Given the description of an element on the screen output the (x, y) to click on. 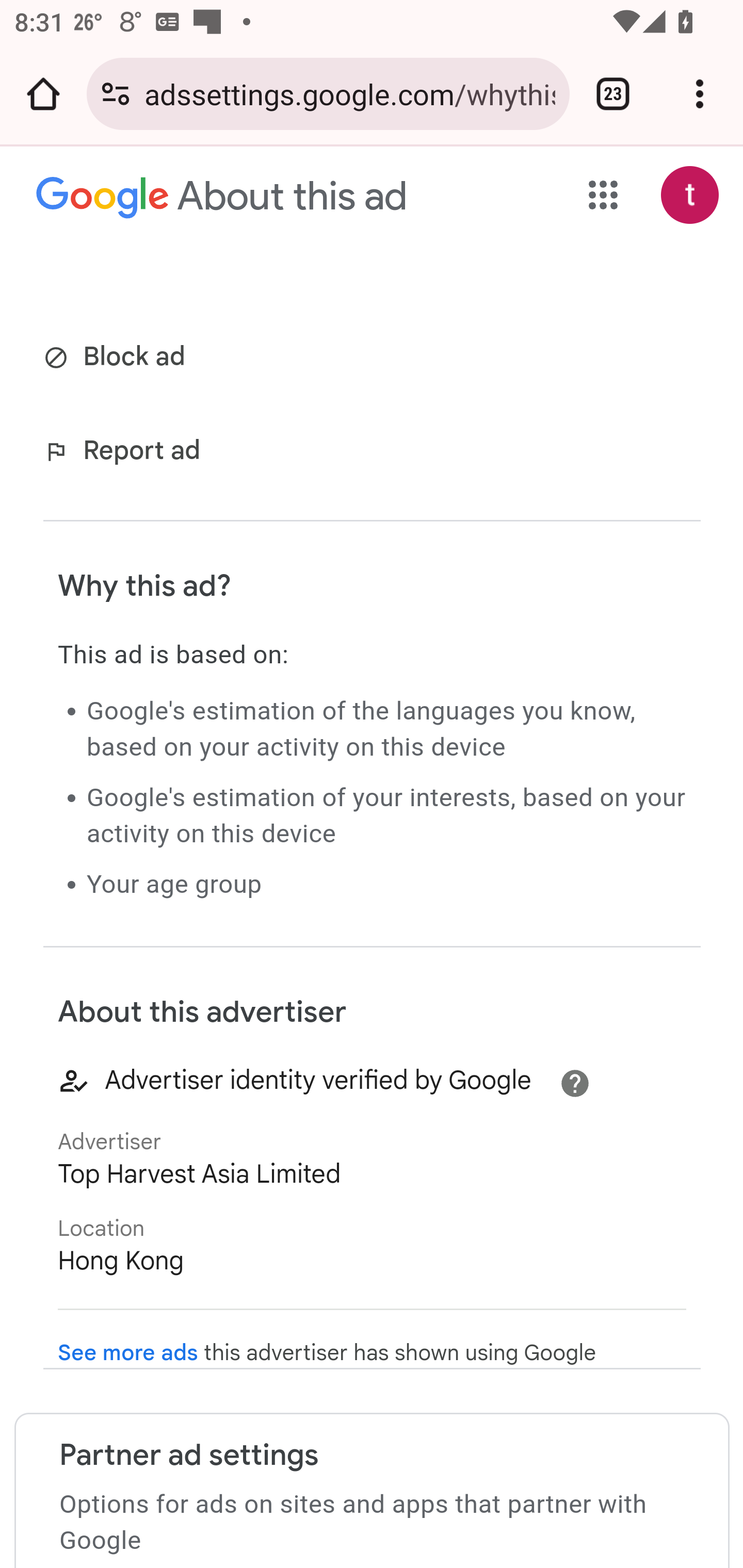
Open the home page (43, 93)
Connection is secure (115, 93)
Switch or close tabs (612, 93)
Customize and control Google Chrome (699, 93)
adssettings.google.com/whythisad (349, 92)
Google apps (603, 195)
Block ad (117, 357)
Report ad (opens in new tab) Report ad (126, 452)
See more ads (opens in new tab) See more ads (127, 1352)
